Given the description of an element on the screen output the (x, y) to click on. 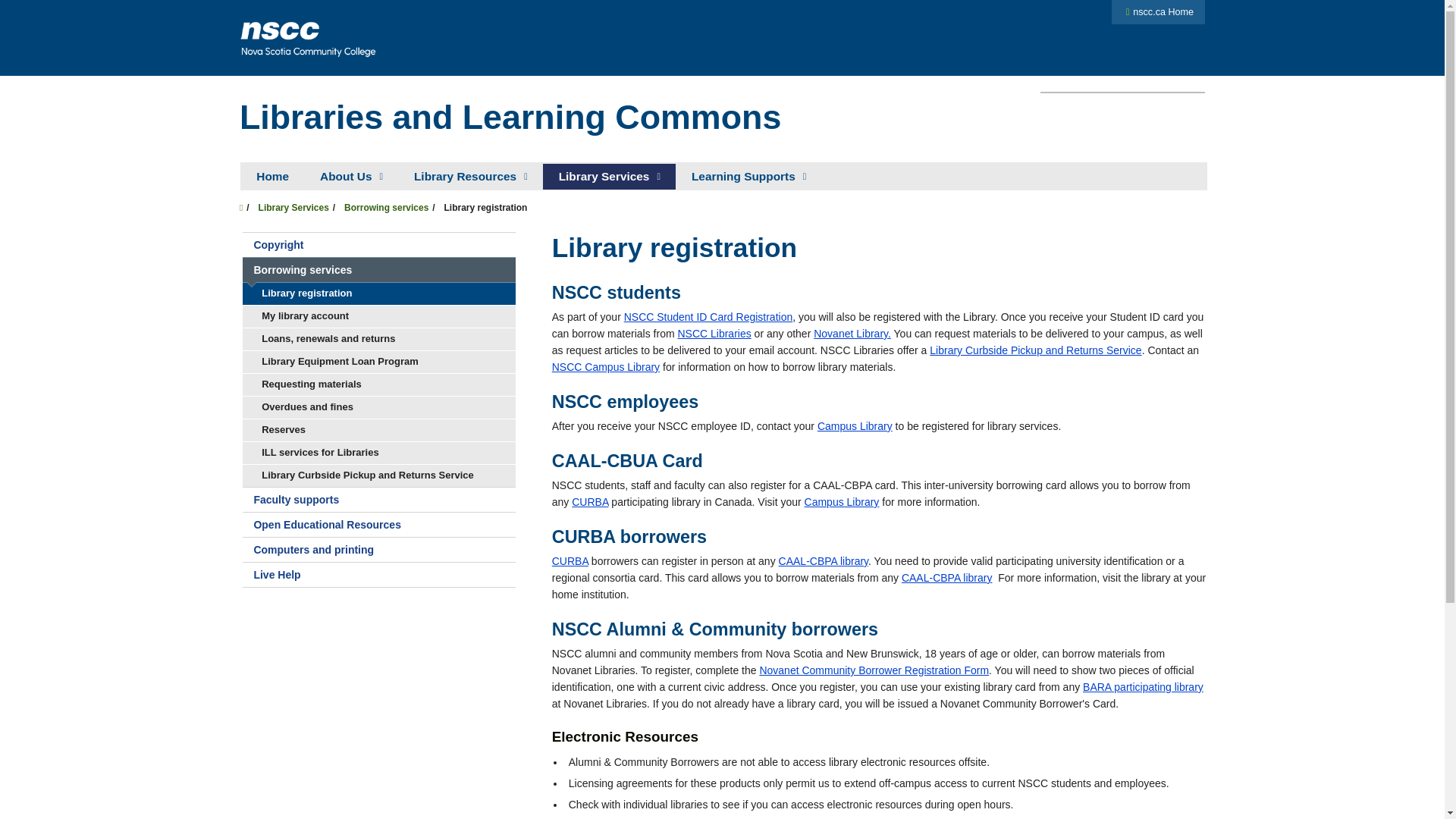
nscc.ca Home (1157, 11)
About Us (350, 176)
Library Resources (470, 176)
Libraries and Learning Commons (510, 116)
Home (272, 176)
